Given the description of an element on the screen output the (x, y) to click on. 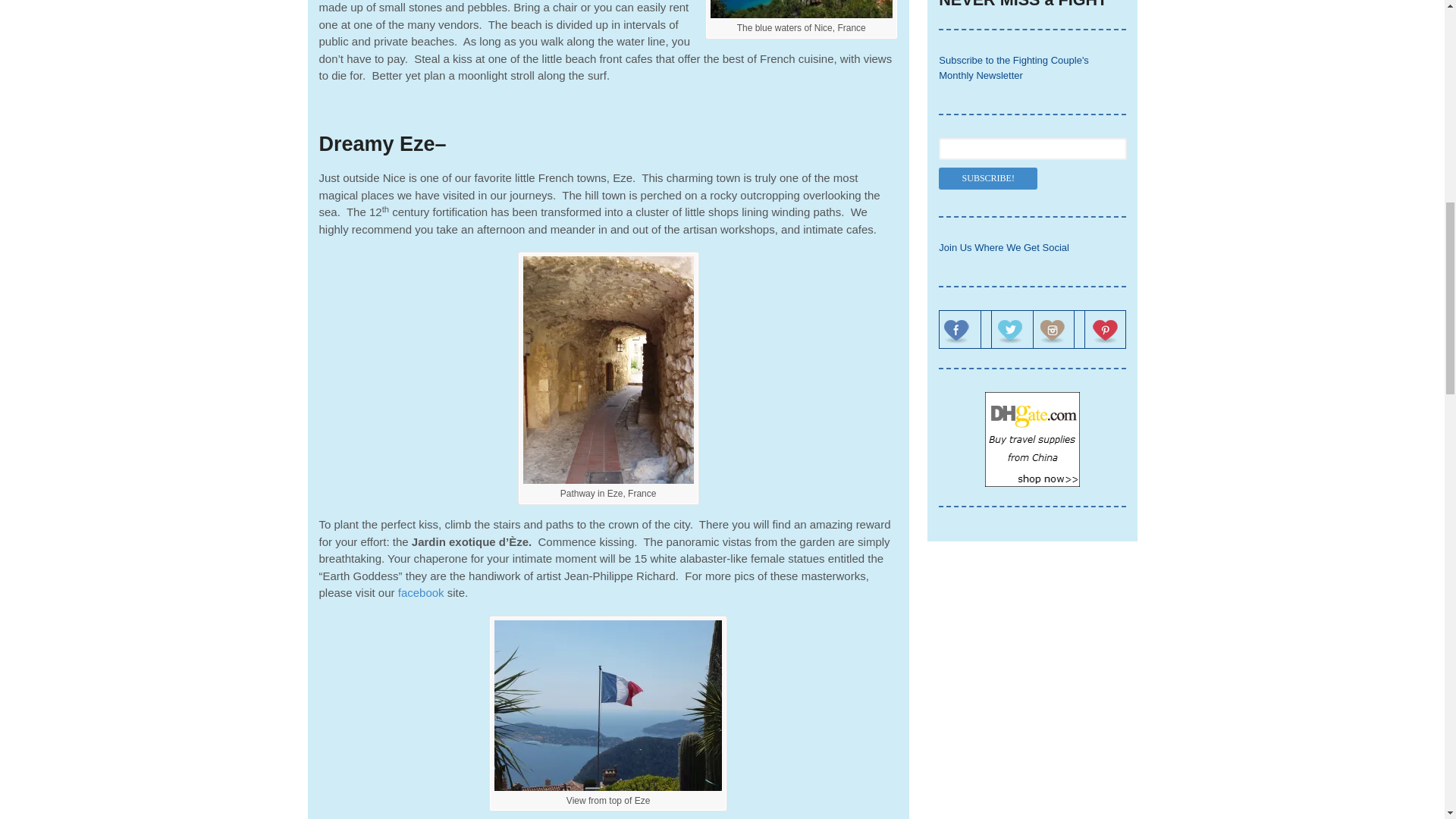
facebook (420, 592)
DHgate.com (1032, 439)
View from top of Eze (608, 705)
nice, france (801, 10)
Subscribe! (987, 178)
